Given the description of an element on the screen output the (x, y) to click on. 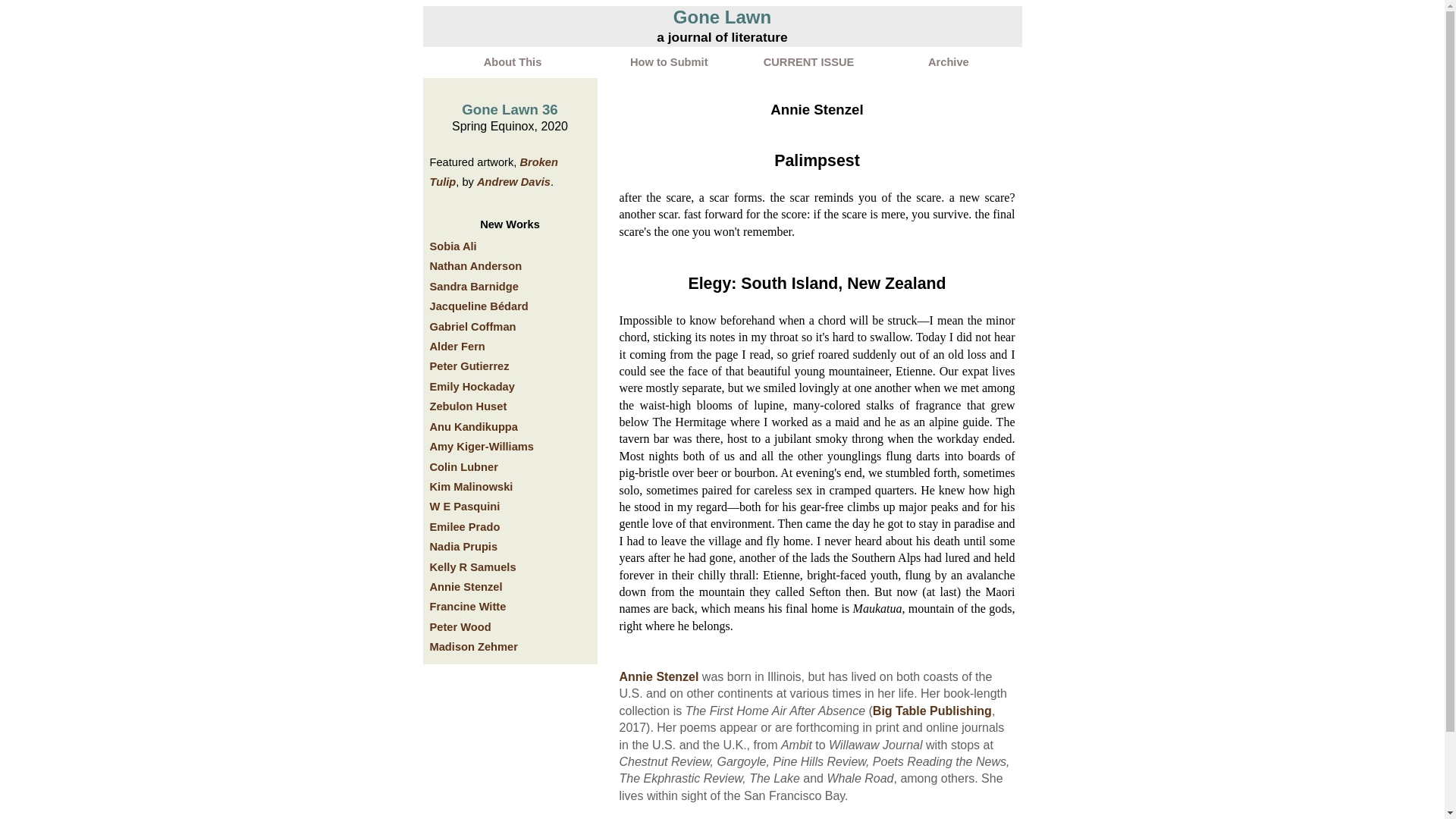
Francine Witte (467, 606)
Broken Tulip (493, 172)
Nadia Prupis (463, 546)
Andrew Davis (513, 182)
CURRENT ISSUE (808, 62)
Peter Gutierrez (468, 366)
Amy Kiger-Williams (481, 446)
Alder Fern (456, 346)
Peter Wood (459, 626)
Annie Stenzel (658, 676)
